Given the description of an element on the screen output the (x, y) to click on. 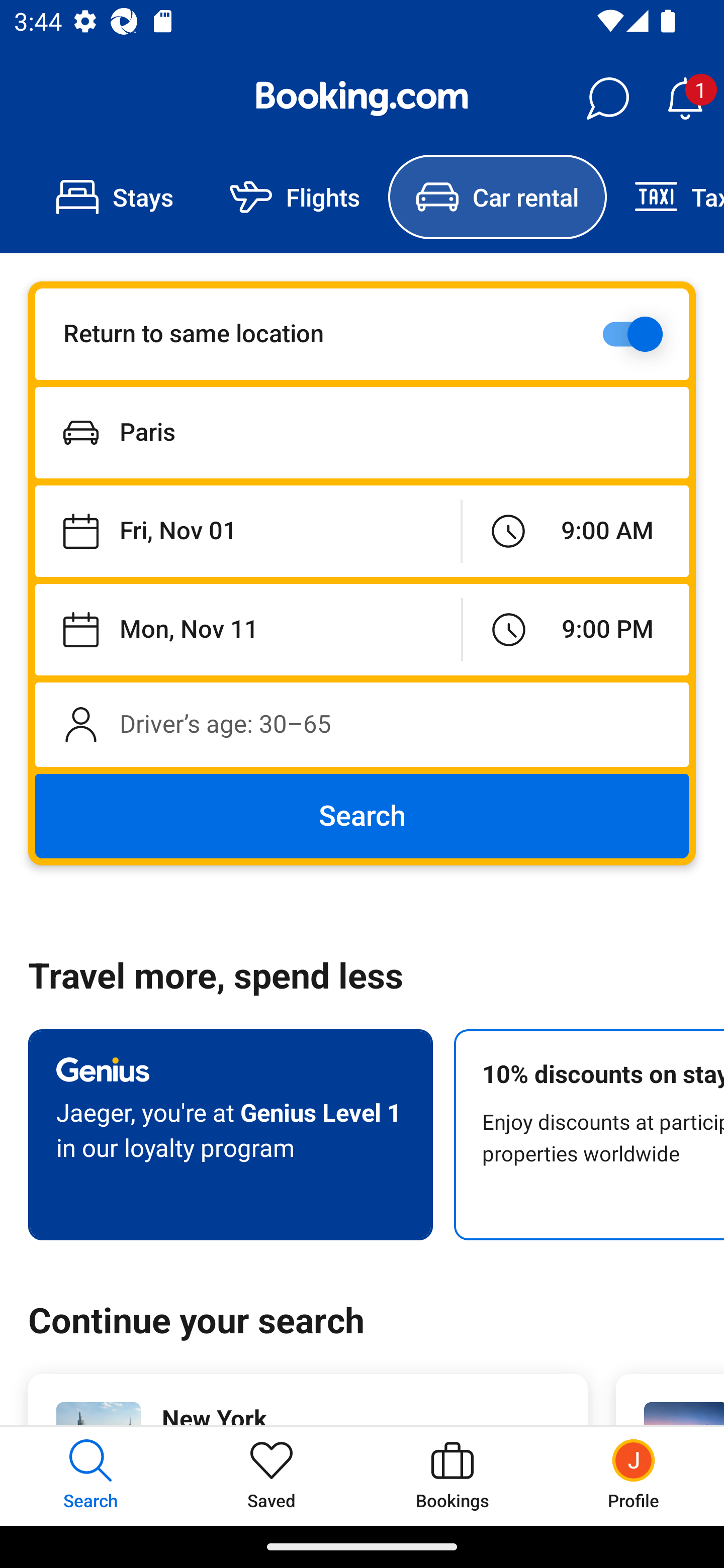
Messages (607, 98)
Notifications (685, 98)
Stays (114, 197)
Flights (294, 197)
Car rental (497, 197)
Taxi (665, 197)
Pick-up location: Text(name=Paris) (361, 432)
Pick-up date: 2024-11-01 (247, 531)
Pick-up time: 09:00:00.000 (575, 531)
Drop-off date: 2024-11-11 (248, 629)
Drop-off time: 21:00:00.000 (575, 629)
Enter the driver's age (361, 724)
Search (361, 815)
Saved (271, 1475)
Bookings (452, 1475)
Profile (633, 1475)
